Given the description of an element on the screen output the (x, y) to click on. 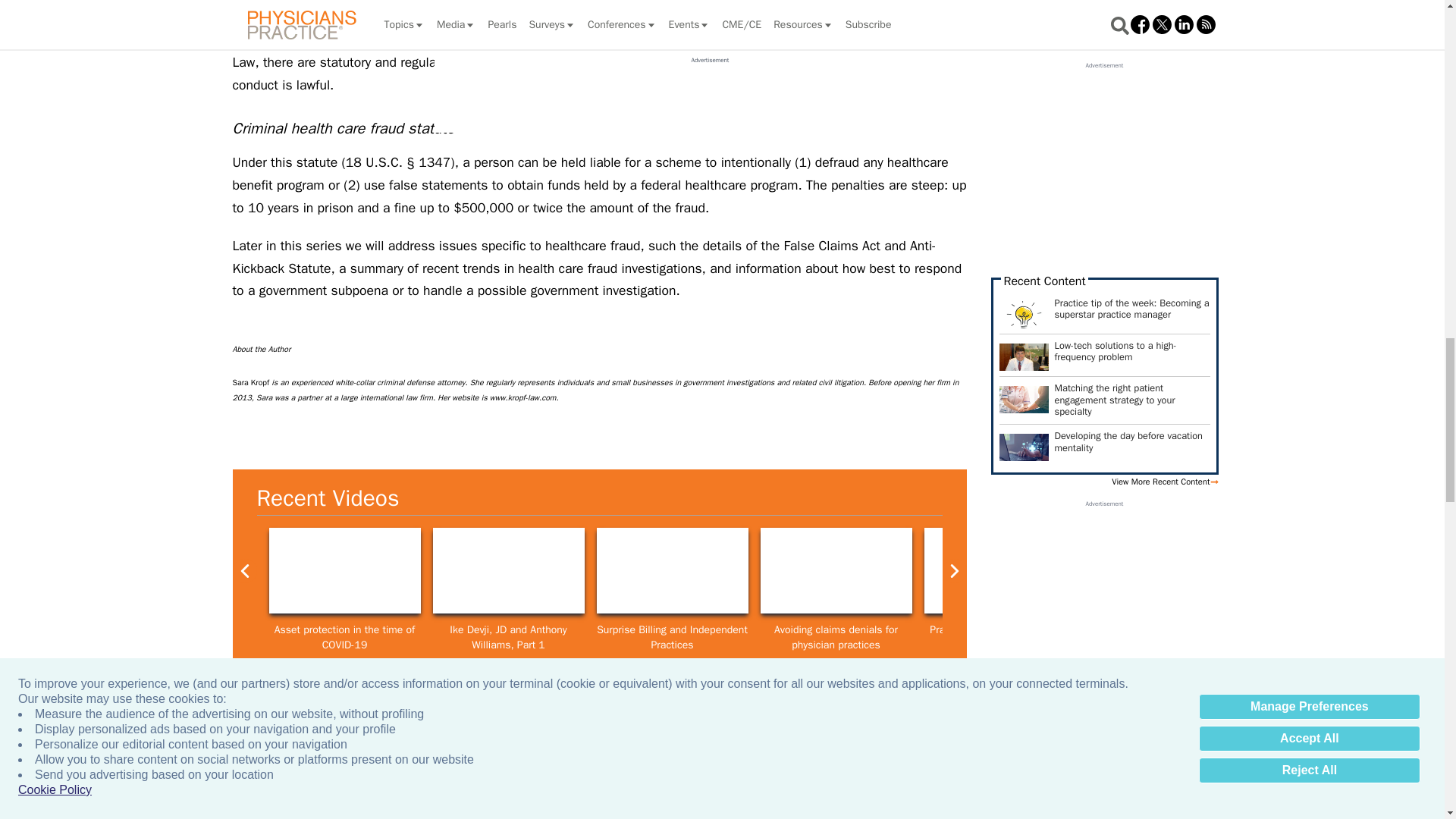
Surprise Billing and Independent Practices (671, 570)
Victor Bornstein gives expert advice (1163, 570)
Avoiding claims denials for physician practices (835, 570)
Victor Bornstein gives expert advice (999, 570)
Victor Bornstein gives expert advice (1326, 570)
